Given the description of an element on the screen output the (x, y) to click on. 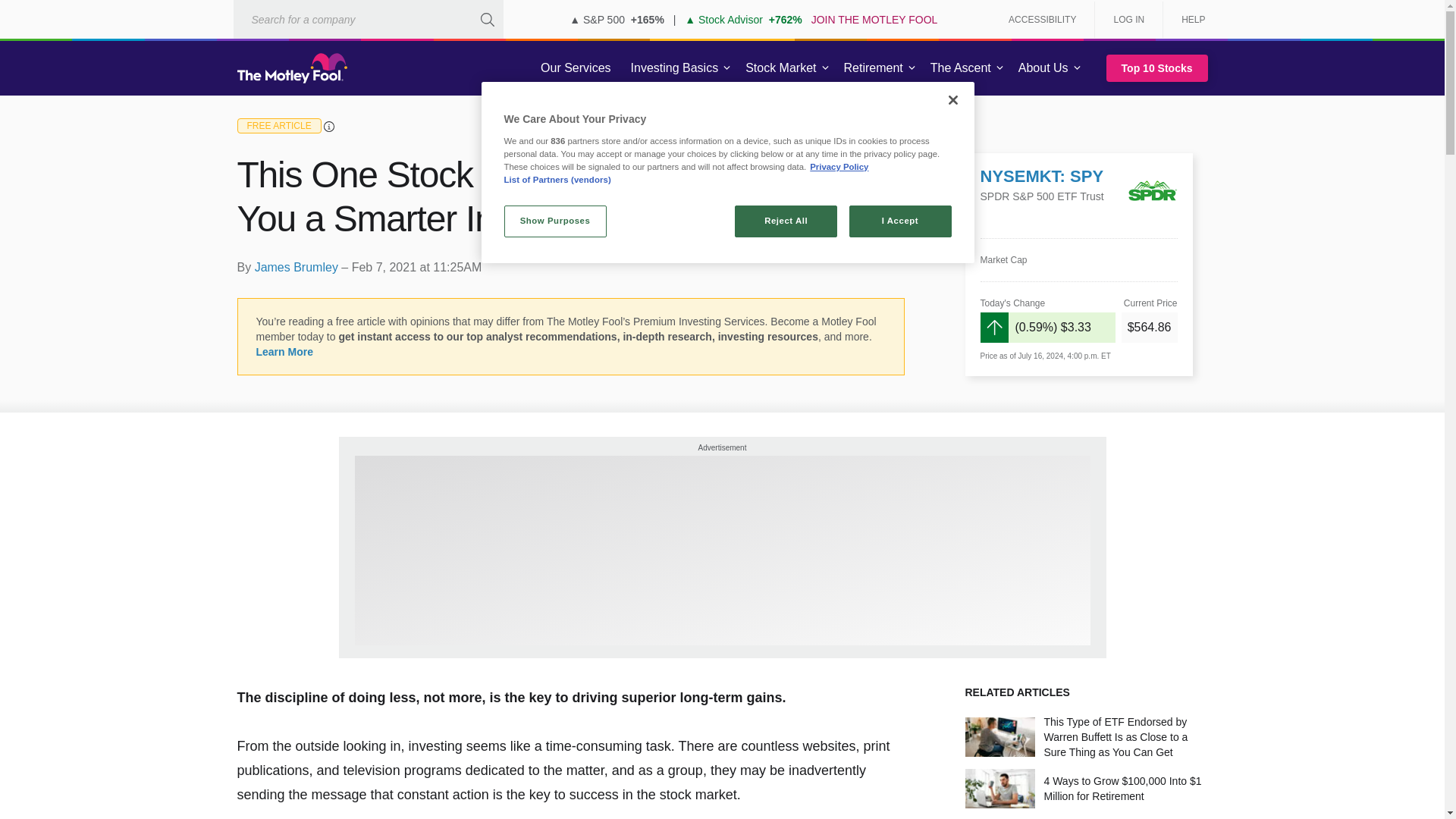
LOG IN (1128, 19)
Investing Basics (674, 67)
ACCESSIBILITY (1042, 19)
Stock Market (780, 67)
HELP (1187, 19)
Our Services (574, 67)
